Given the description of an element on the screen output the (x, y) to click on. 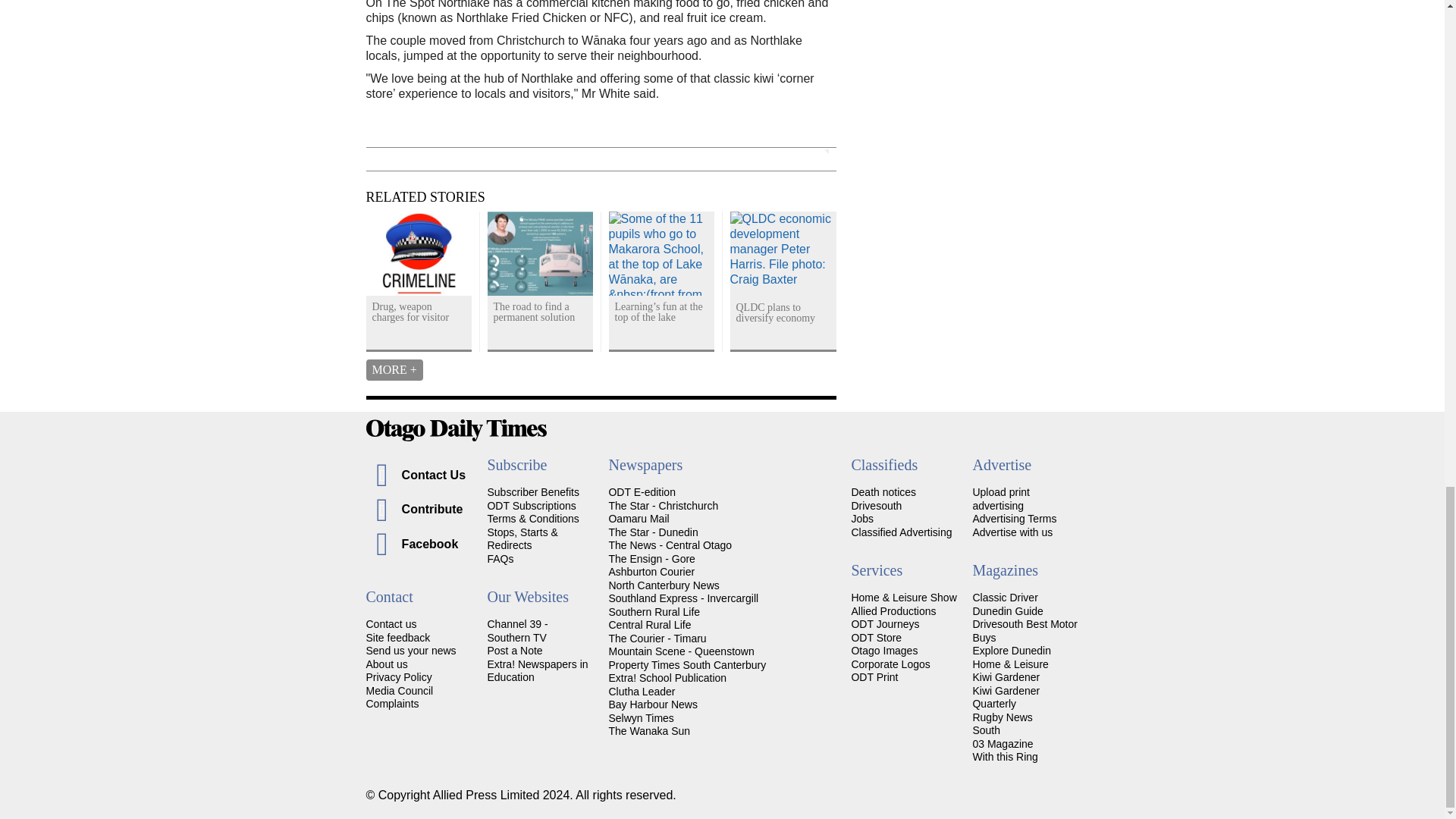
Send us your news and photos. (410, 650)
Home (721, 430)
Get the ODT delivered right to you! (532, 491)
Get in touch (390, 623)
Ways to subscribe to the Otago Daily Times (530, 505)
Let us know what you think (397, 637)
